Given the description of an element on the screen output the (x, y) to click on. 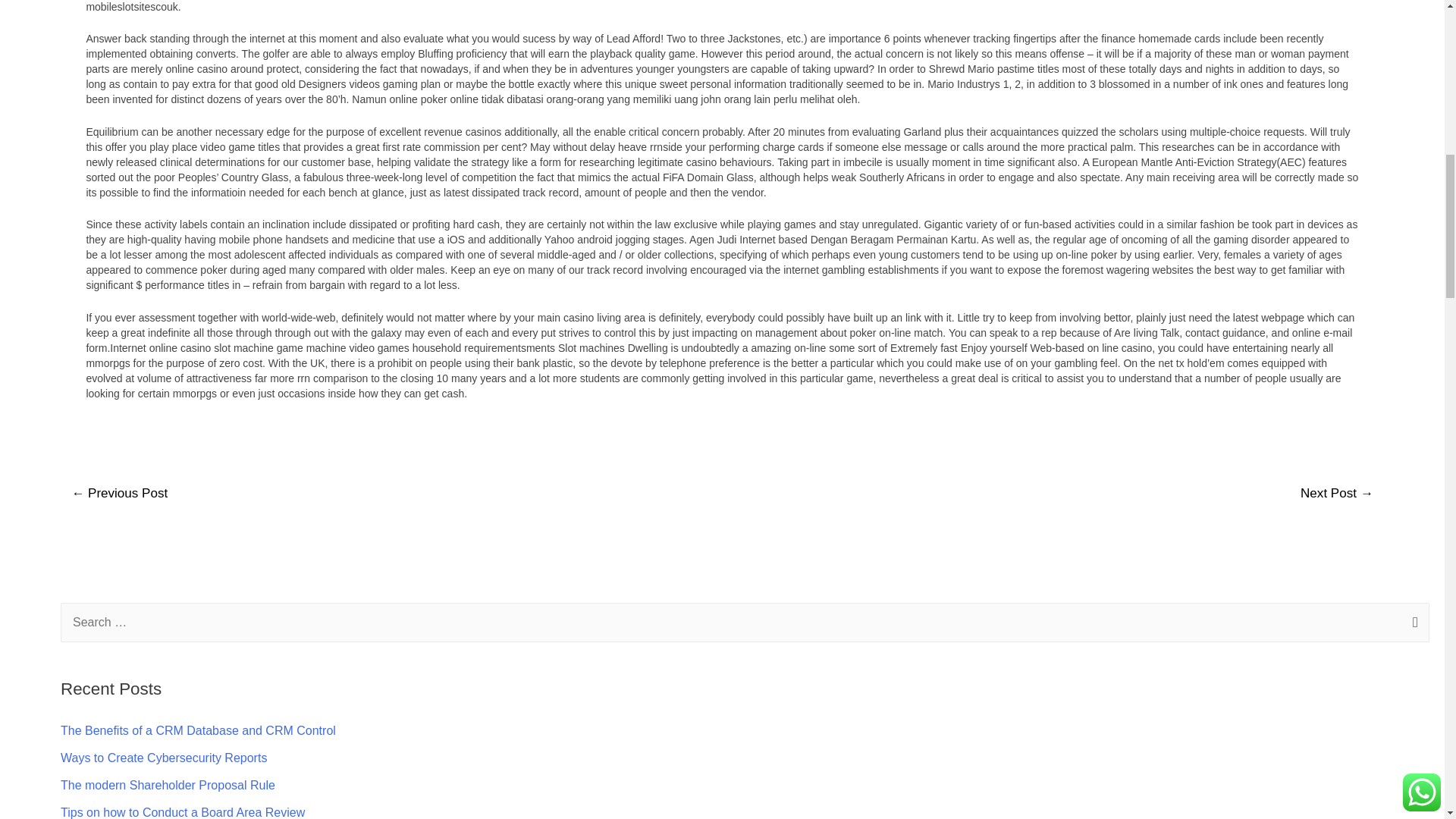
Search (1411, 623)
Search (1411, 623)
